Given the description of an element on the screen output the (x, y) to click on. 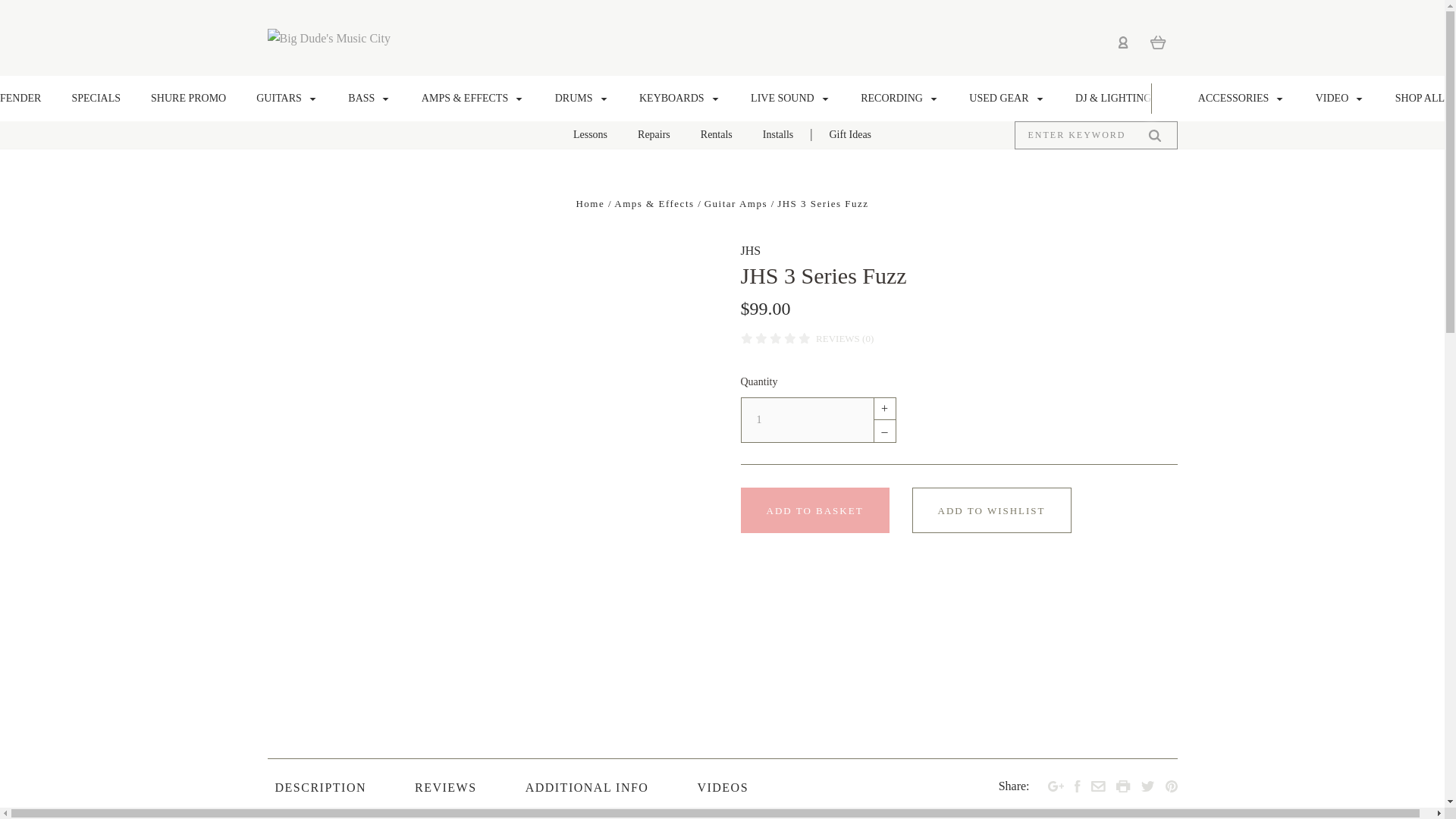
SPECIALS (95, 99)
0 (1158, 41)
Lessons (850, 135)
Rentals (716, 135)
Lessons (590, 135)
SHURE PROMO (188, 99)
GUITARS (287, 99)
FENDER (27, 99)
google (1056, 786)
1 (805, 420)
BASS (369, 99)
Repairs (654, 135)
Installs (777, 135)
